Given the description of an element on the screen output the (x, y) to click on. 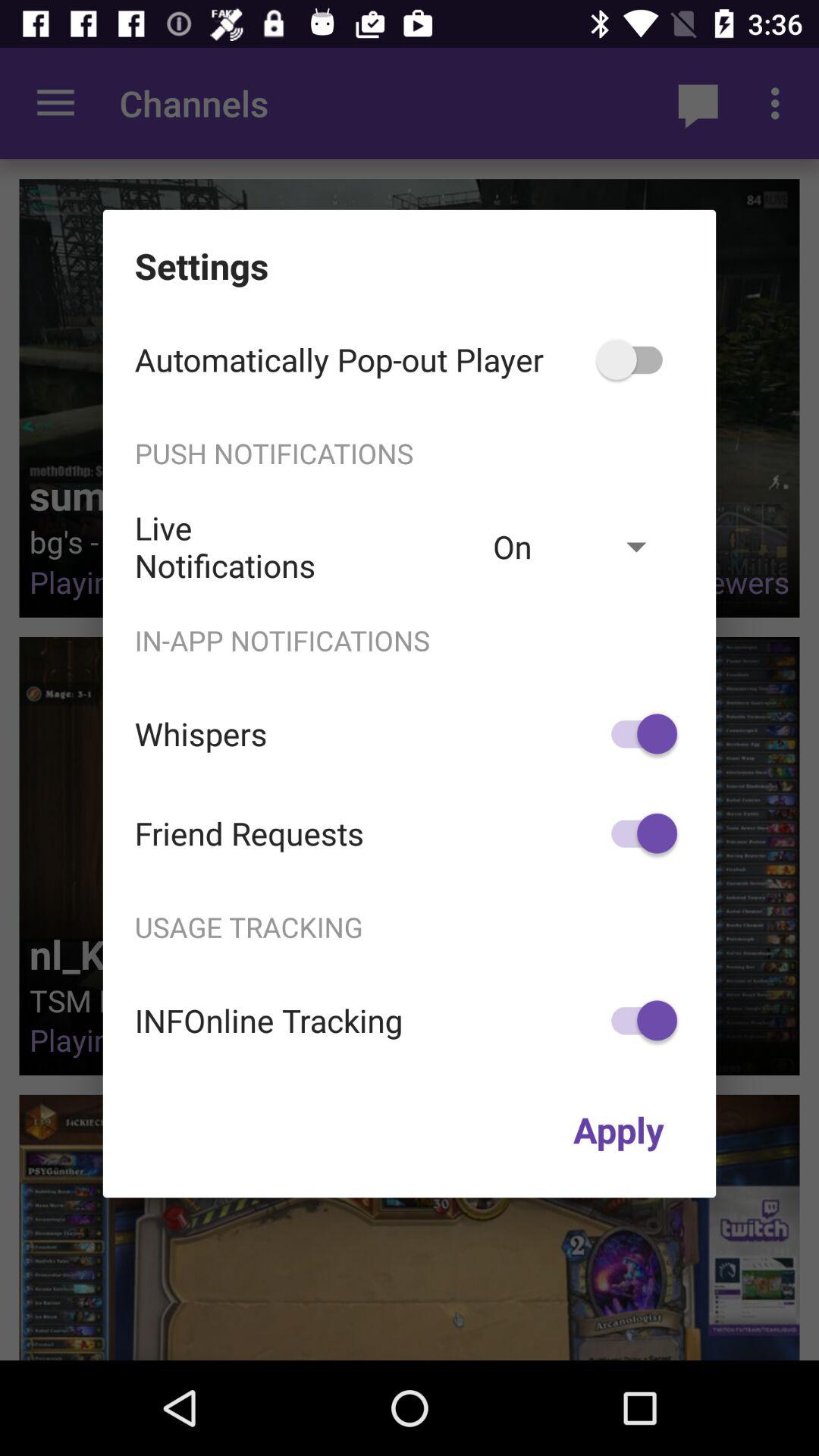
turn off icon to the right of friend requests item (636, 833)
